Given the description of an element on the screen output the (x, y) to click on. 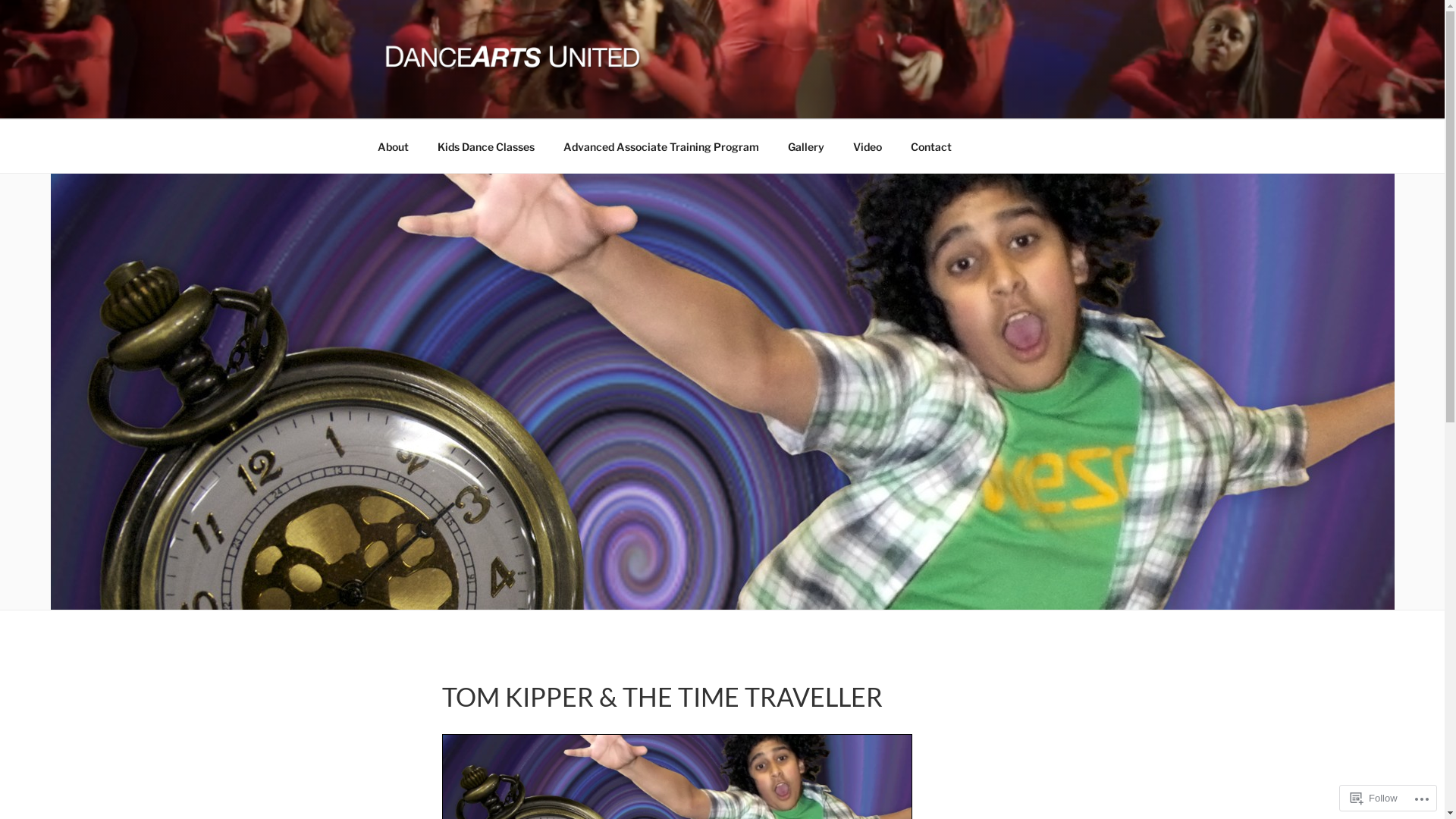
About Element type: text (392, 146)
Kids Dance Classes Element type: text (486, 146)
Contact Element type: text (931, 146)
Advanced Associate Training Program Element type: text (661, 146)
Follow Element type: text (1373, 797)
Gallery Element type: text (806, 146)
Video Element type: text (867, 146)
